Given the description of an element on the screen output the (x, y) to click on. 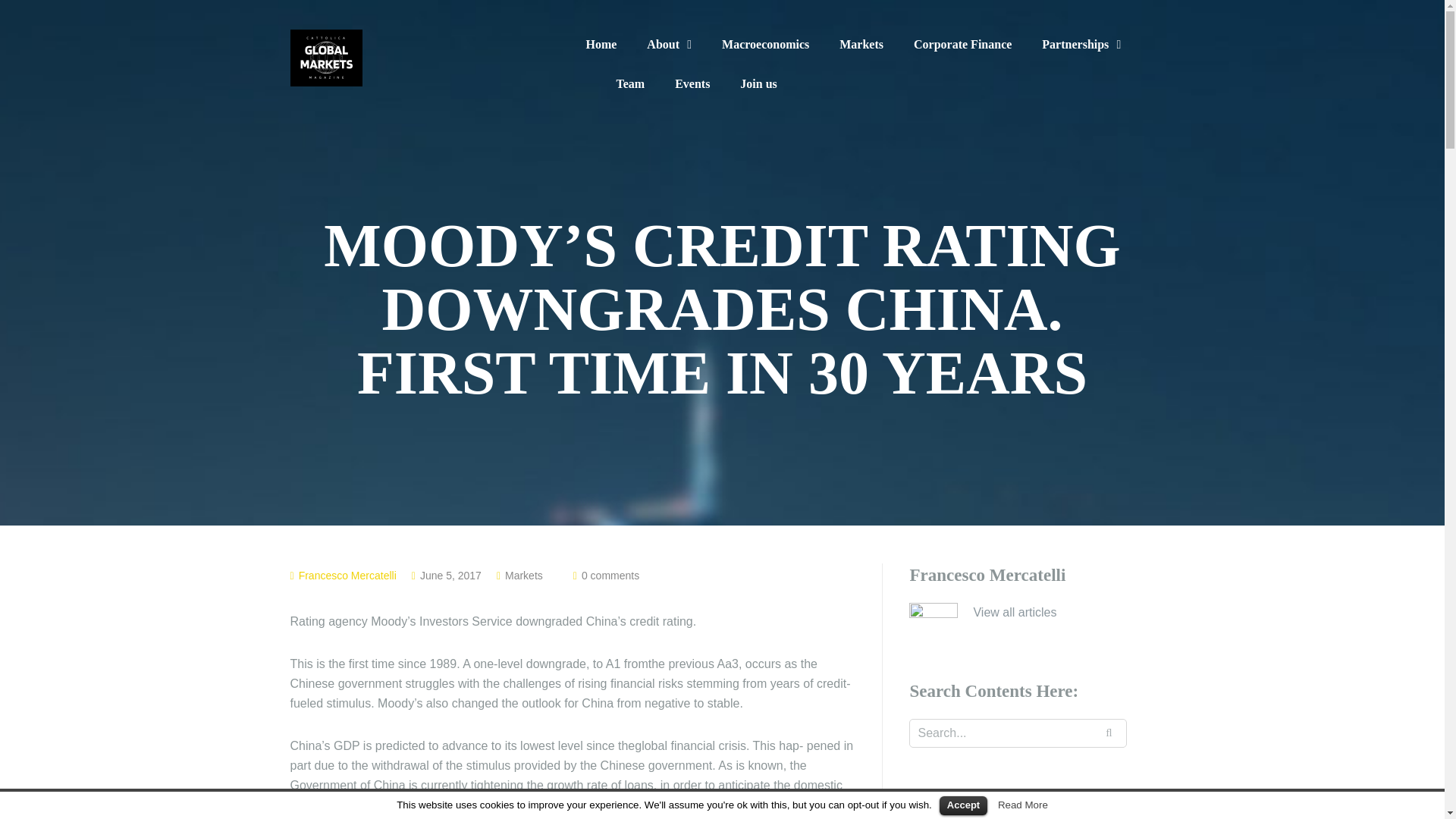
Markets (524, 575)
Partnerships (1081, 44)
Macroeconomics (765, 43)
Events (692, 83)
About (668, 44)
0 comments (609, 575)
Home (600, 43)
Corporate Finance (962, 43)
Join us (757, 83)
0 comments (609, 575)
Team (630, 83)
Markets (861, 43)
Search for: (1017, 733)
